Given the description of an element on the screen output the (x, y) to click on. 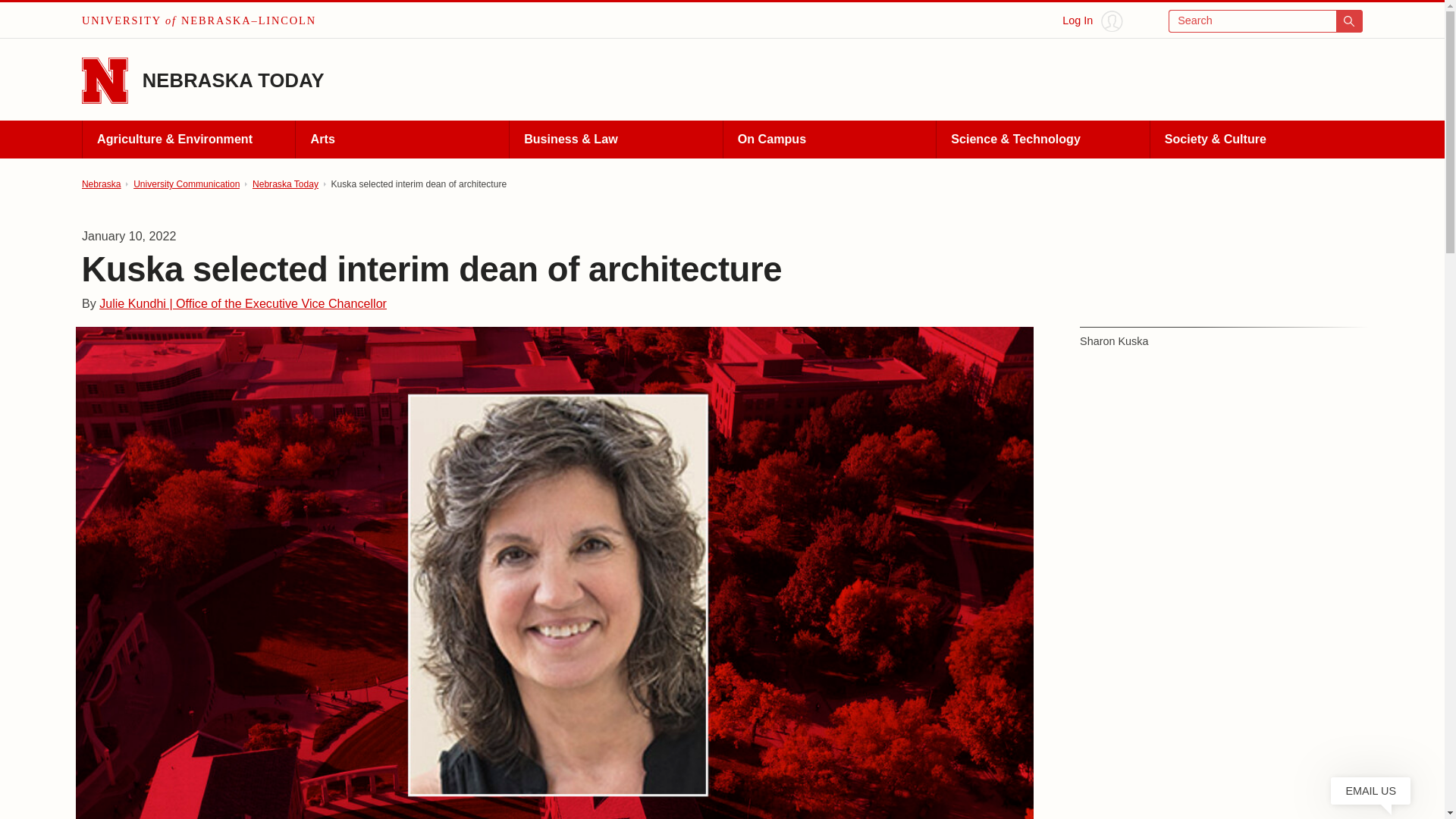
Nebraska (100, 183)
Log In (1092, 21)
Nebraska Today (284, 183)
Skip to main content (19, 16)
NEBRASKA TODAY (233, 79)
Arts (401, 139)
Search (1265, 21)
On Campus (829, 139)
University Communication (186, 183)
